Given the description of an element on the screen output the (x, y) to click on. 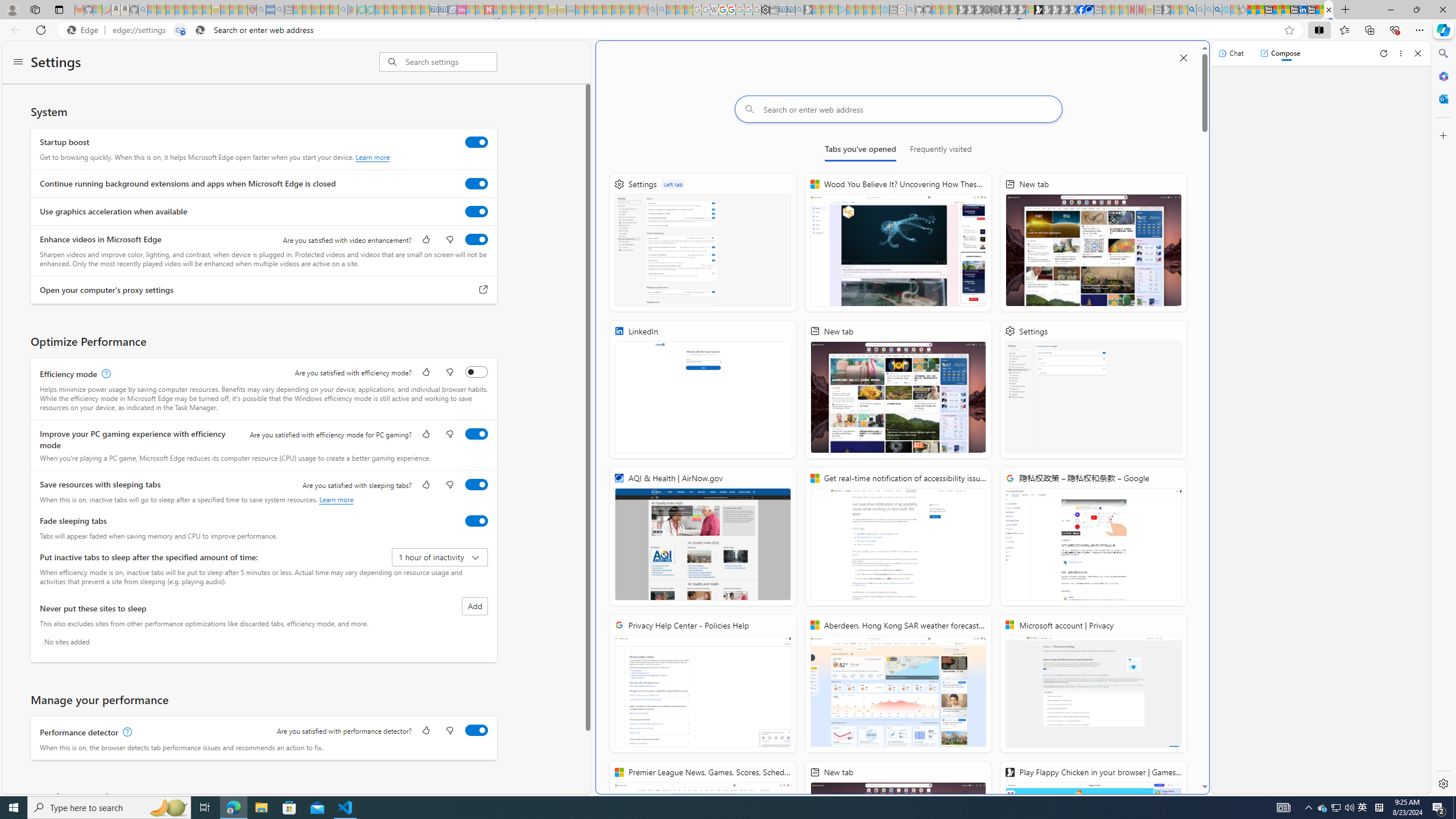
Close split screen (1183, 57)
Aberdeen, Hong Kong SAR weather forecast | Microsoft Weather (1259, 9)
Privacy Help Center - Policies Help (703, 683)
Compose (1279, 52)
